Given the description of an element on the screen output the (x, y) to click on. 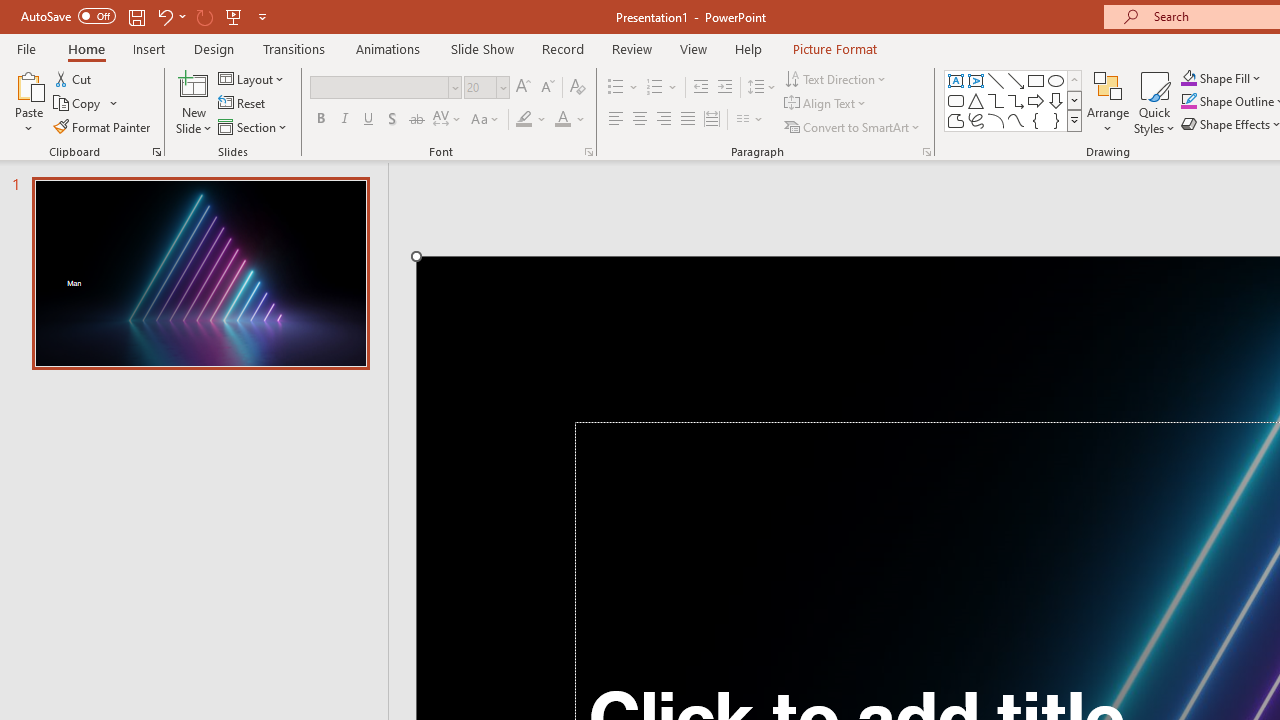
Shape Fill Orange, Accent 2 (1188, 78)
